Given the description of an element on the screen output the (x, y) to click on. 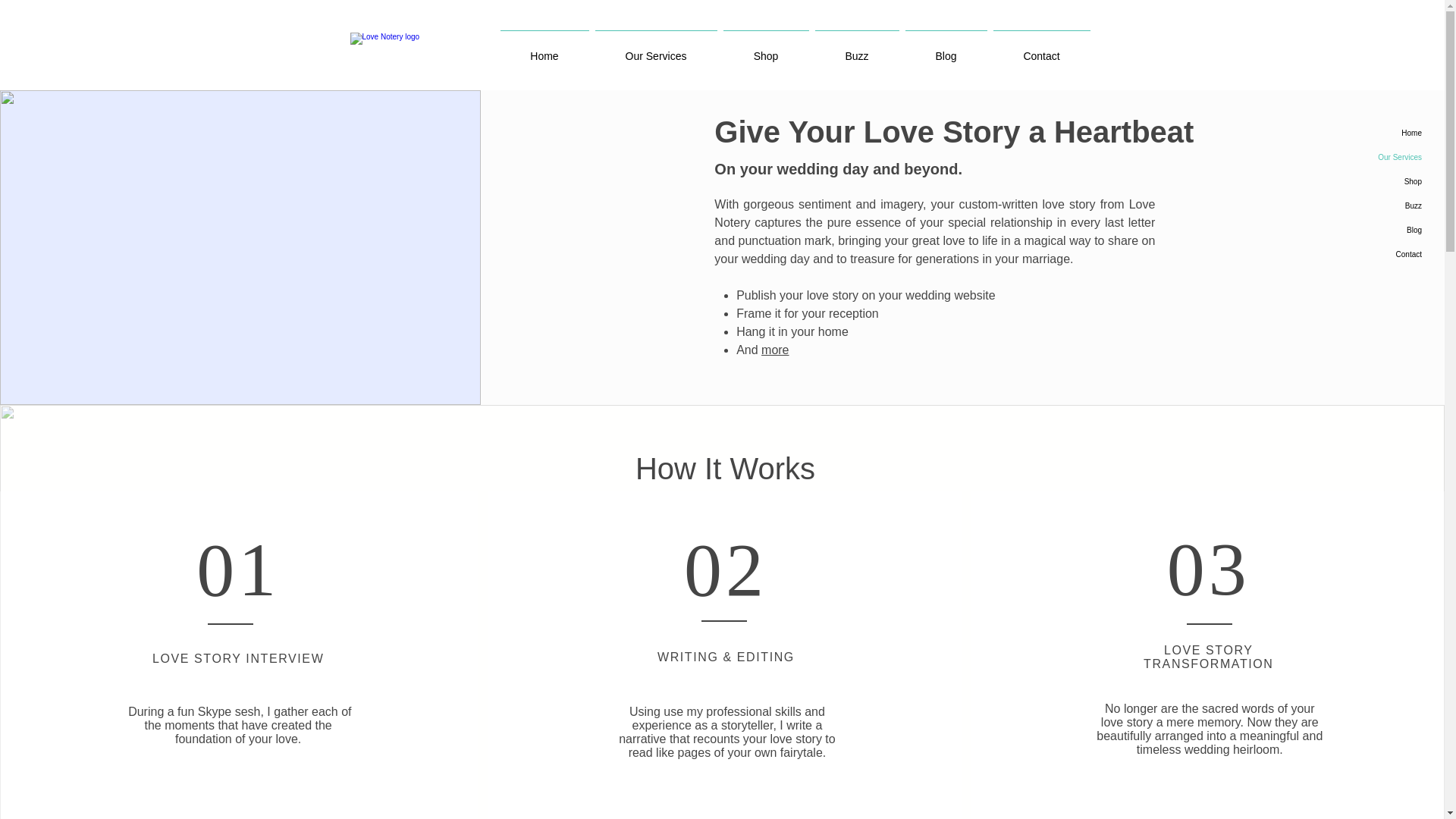
Shop (766, 48)
Blog (946, 48)
Blog (1358, 230)
Home (544, 48)
Home (1358, 133)
Contact (1041, 48)
Shop (1358, 181)
more (775, 349)
Contact (1358, 254)
